Given the description of an element on the screen output the (x, y) to click on. 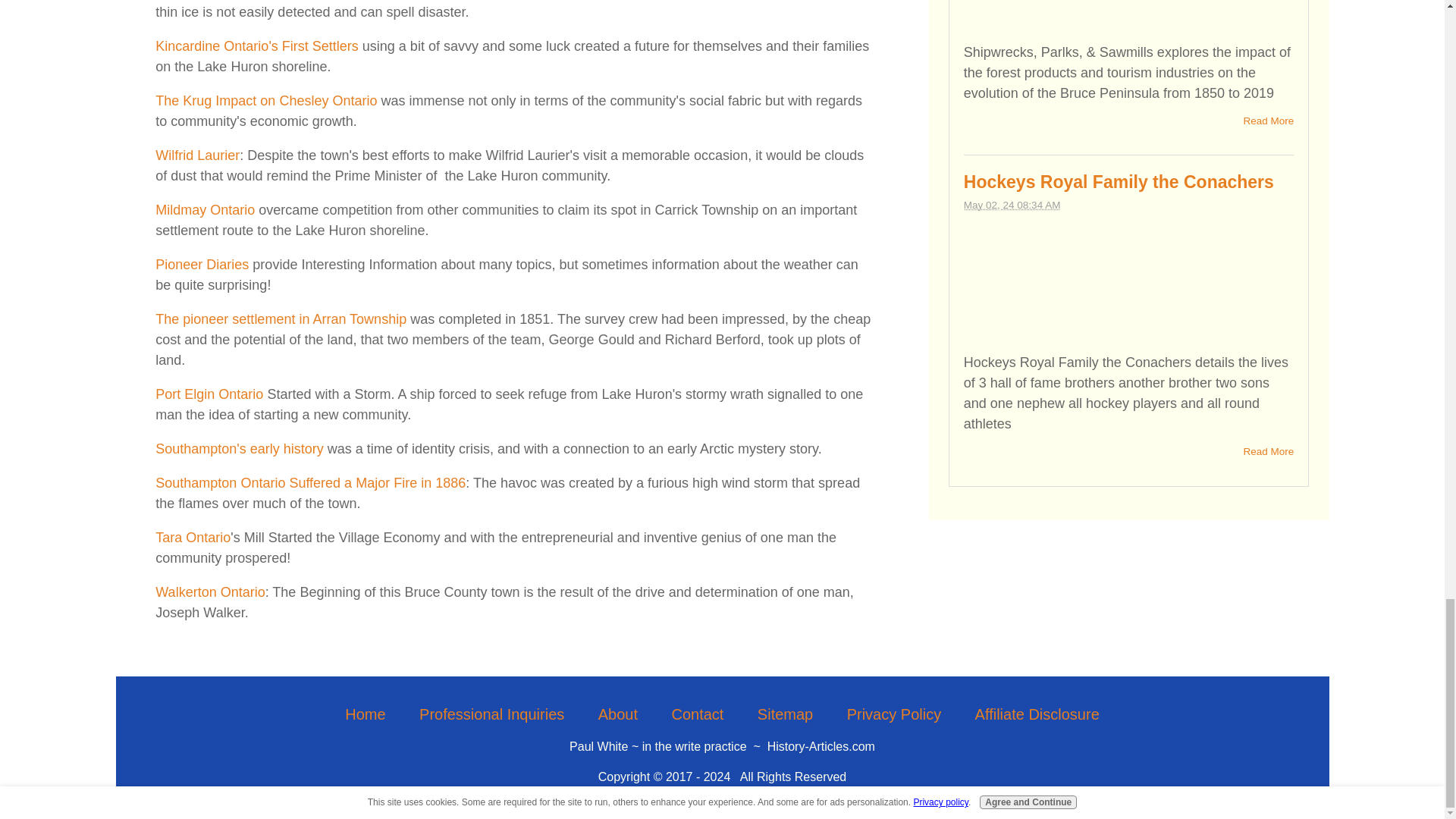
2024-05-02T08:34:45-0400 (1012, 204)
